Given the description of an element on the screen output the (x, y) to click on. 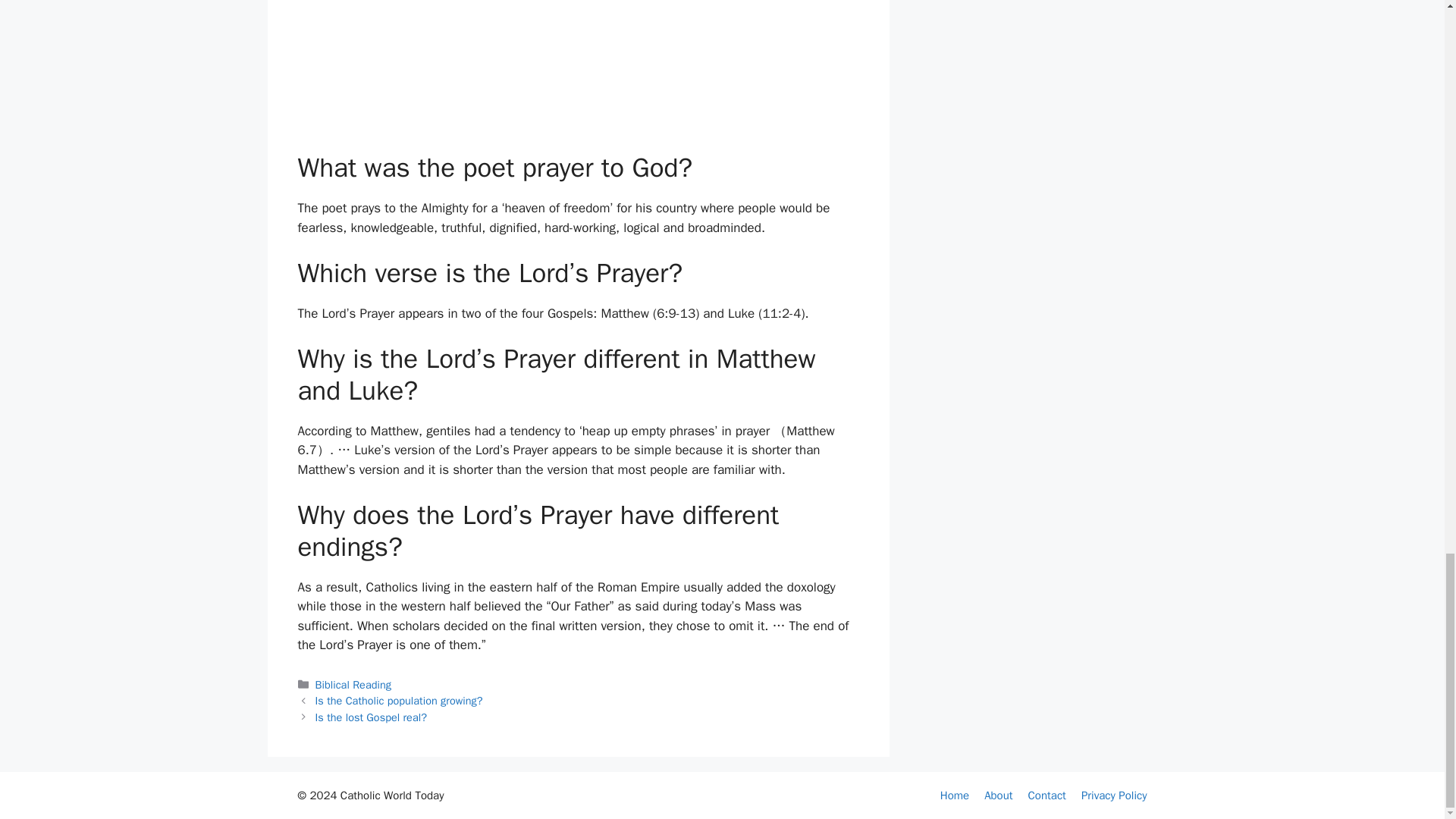
Contact (1046, 795)
Is the lost Gospel real? (370, 716)
About (997, 795)
Privacy Policy (1114, 795)
Is the Catholic population growing? (399, 700)
Home (954, 795)
Biblical Reading (353, 684)
